Given the description of an element on the screen output the (x, y) to click on. 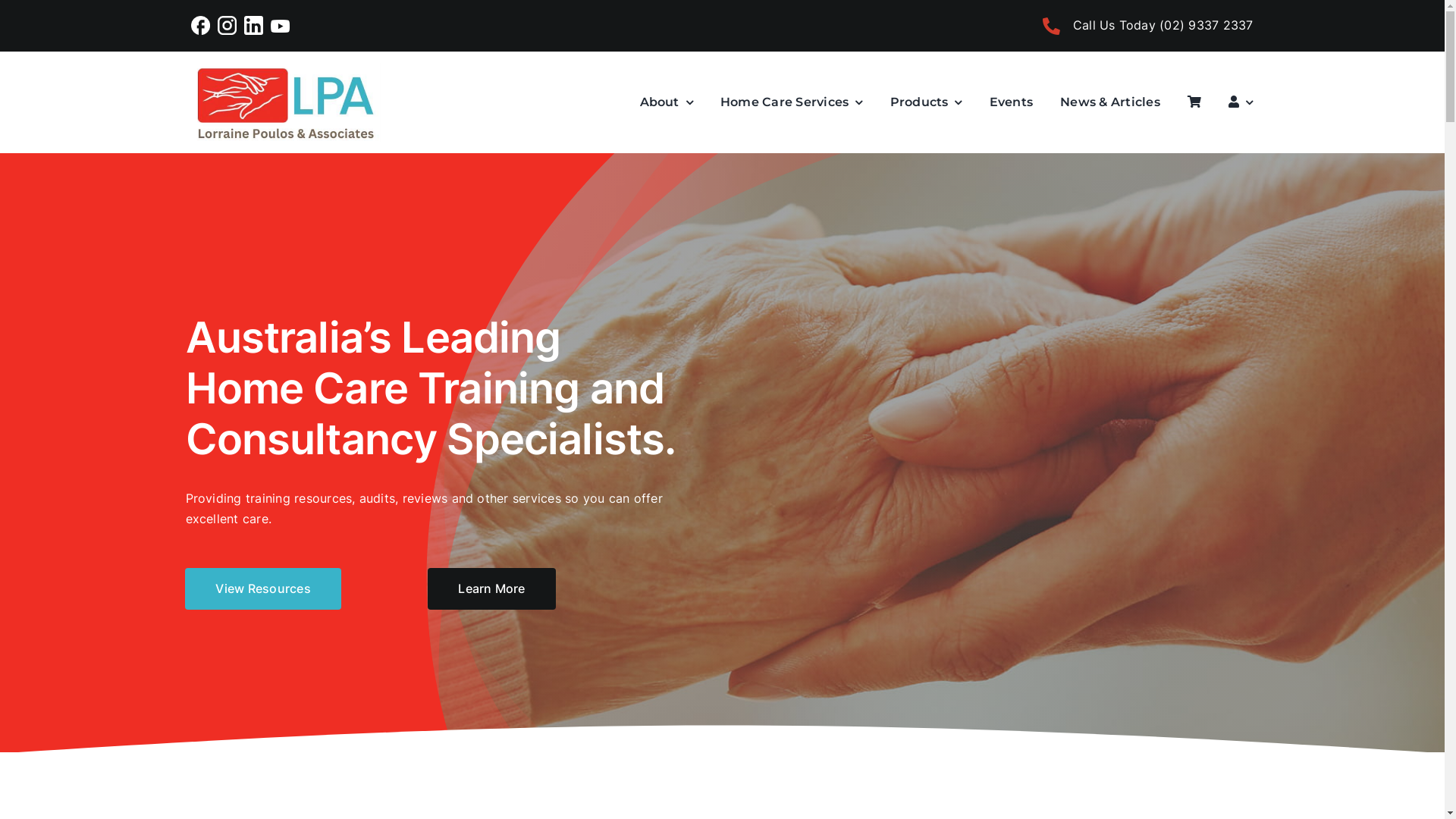
Events Element type: text (1010, 101)
Learn More Element type: text (491, 588)
About Element type: text (666, 101)
Home Care Services Element type: text (791, 101)
View Resources Element type: text (262, 588)
News & Articles Element type: text (1110, 101)
Products Element type: text (926, 101)
